Given the description of an element on the screen output the (x, y) to click on. 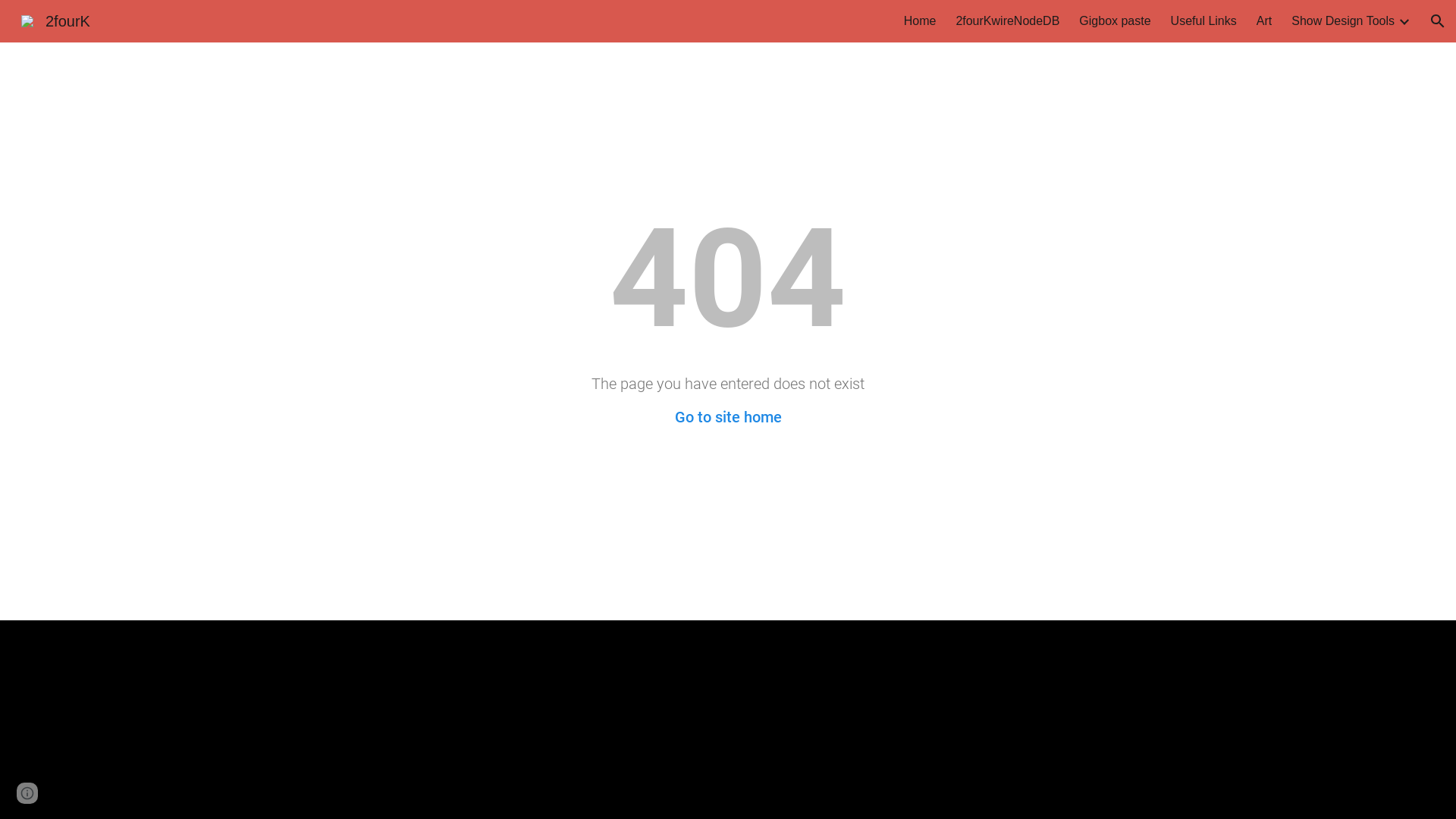
Gigbox paste Element type: text (1114, 20)
Art Element type: text (1263, 20)
2fourK Element type: text (55, 19)
2fourKwireNodeDB Element type: text (1007, 20)
Useful Links Element type: text (1203, 20)
Home Element type: text (919, 20)
Expand/Collapse Element type: hover (1403, 20)
Show Design Tools Element type: text (1342, 20)
Go to site home Element type: text (727, 416)
